Given the description of an element on the screen output the (x, y) to click on. 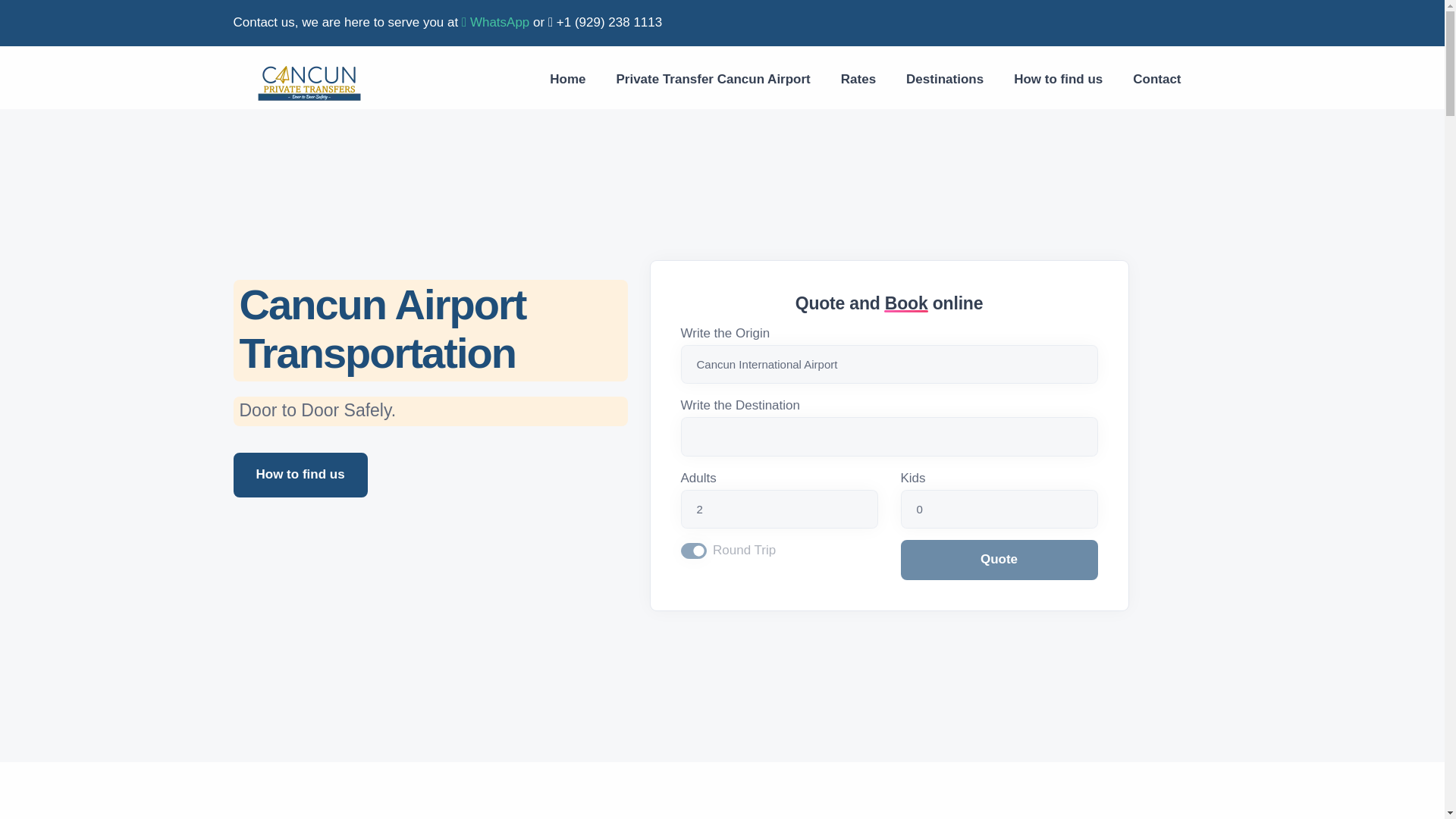
Destinations (944, 79)
Home (566, 79)
How to find us (1058, 79)
2 (779, 509)
WhatsApp (495, 22)
How to find us (300, 474)
Cancun International Airport (889, 364)
Private Transfer Cancun Airport (712, 79)
Contact (1156, 79)
Rates (858, 79)
